Given the description of an element on the screen output the (x, y) to click on. 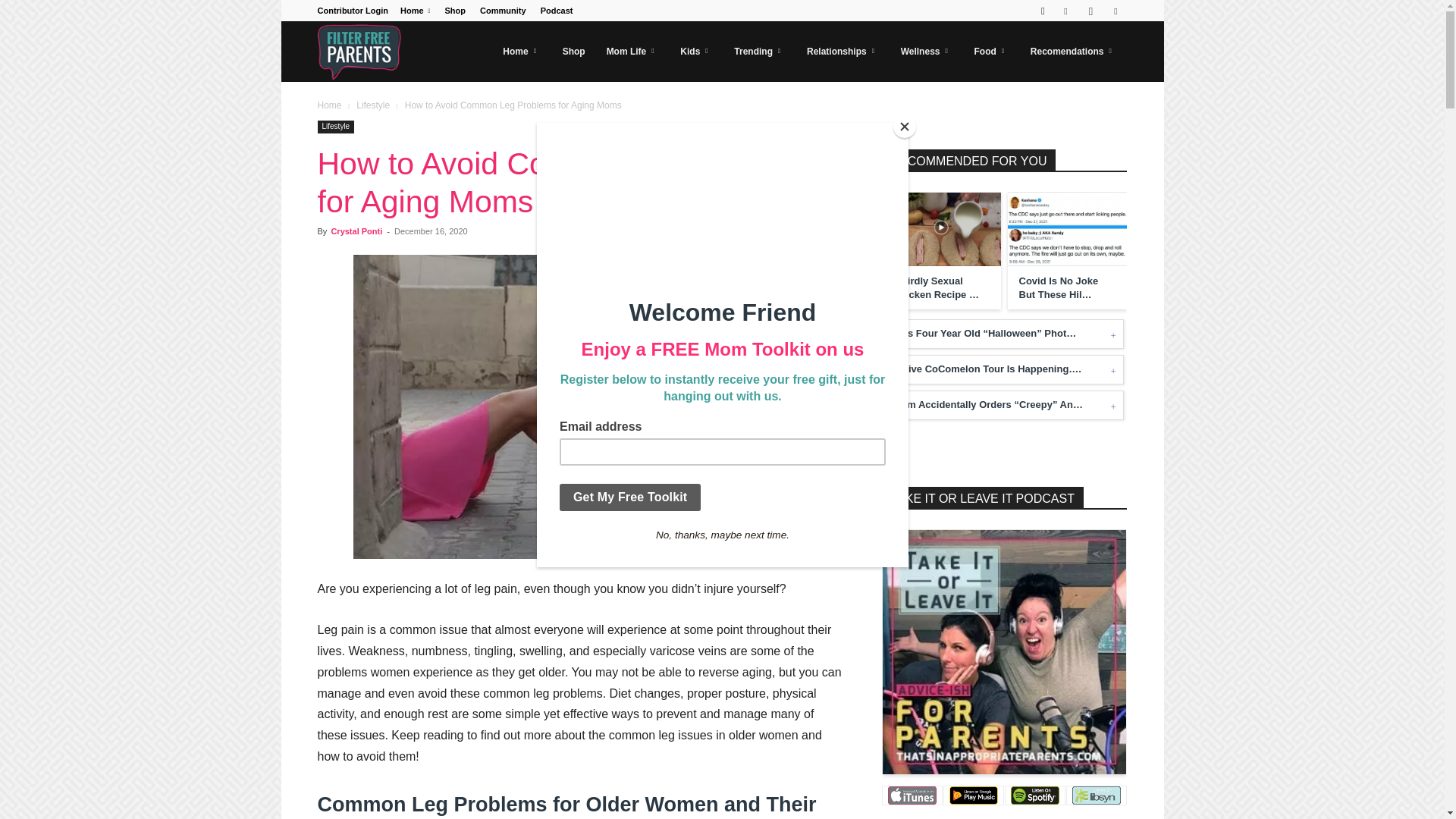
Facebook (1065, 10)
Home (414, 10)
Pinterest (1114, 10)
Contributor Login (352, 10)
Instagram (1090, 10)
